Given the description of an element on the screen output the (x, y) to click on. 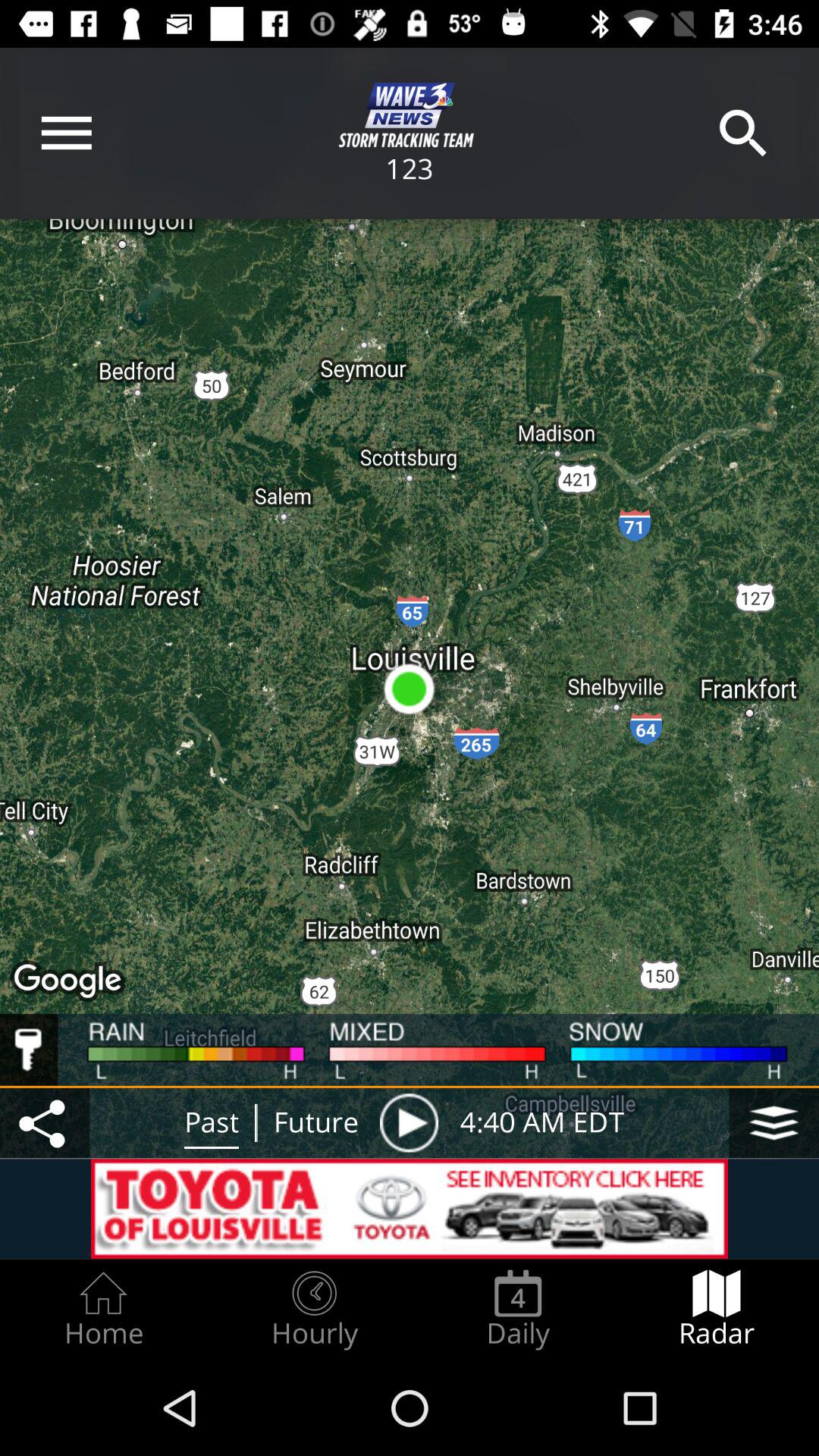
turn on icon next to the home (314, 1309)
